Given the description of an element on the screen output the (x, y) to click on. 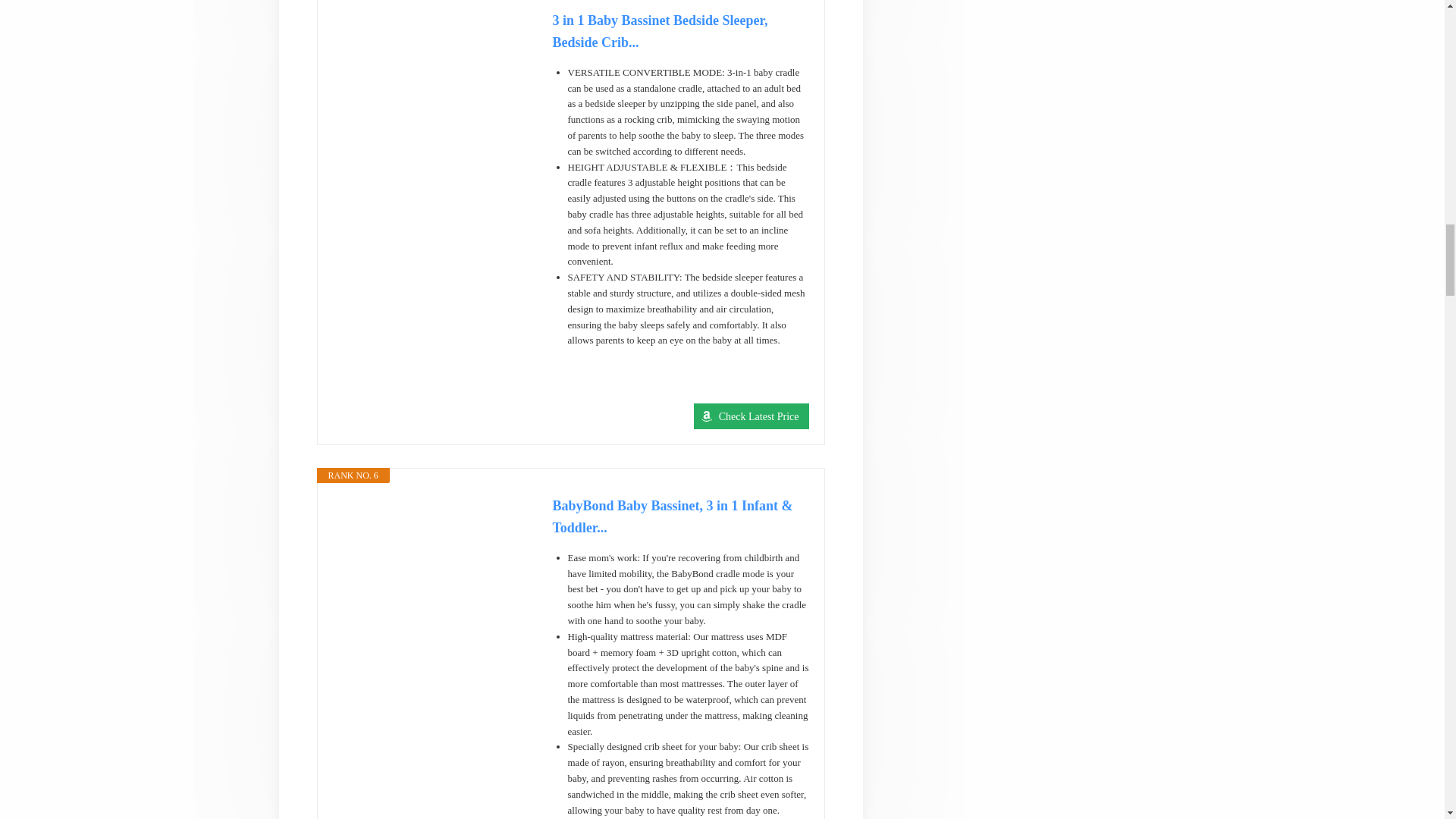
3 in 1 Baby Bassinet Bedside Sleeper, Bedside Crib... (679, 31)
Check Latest Price (751, 416)
